Given the description of an element on the screen output the (x, y) to click on. 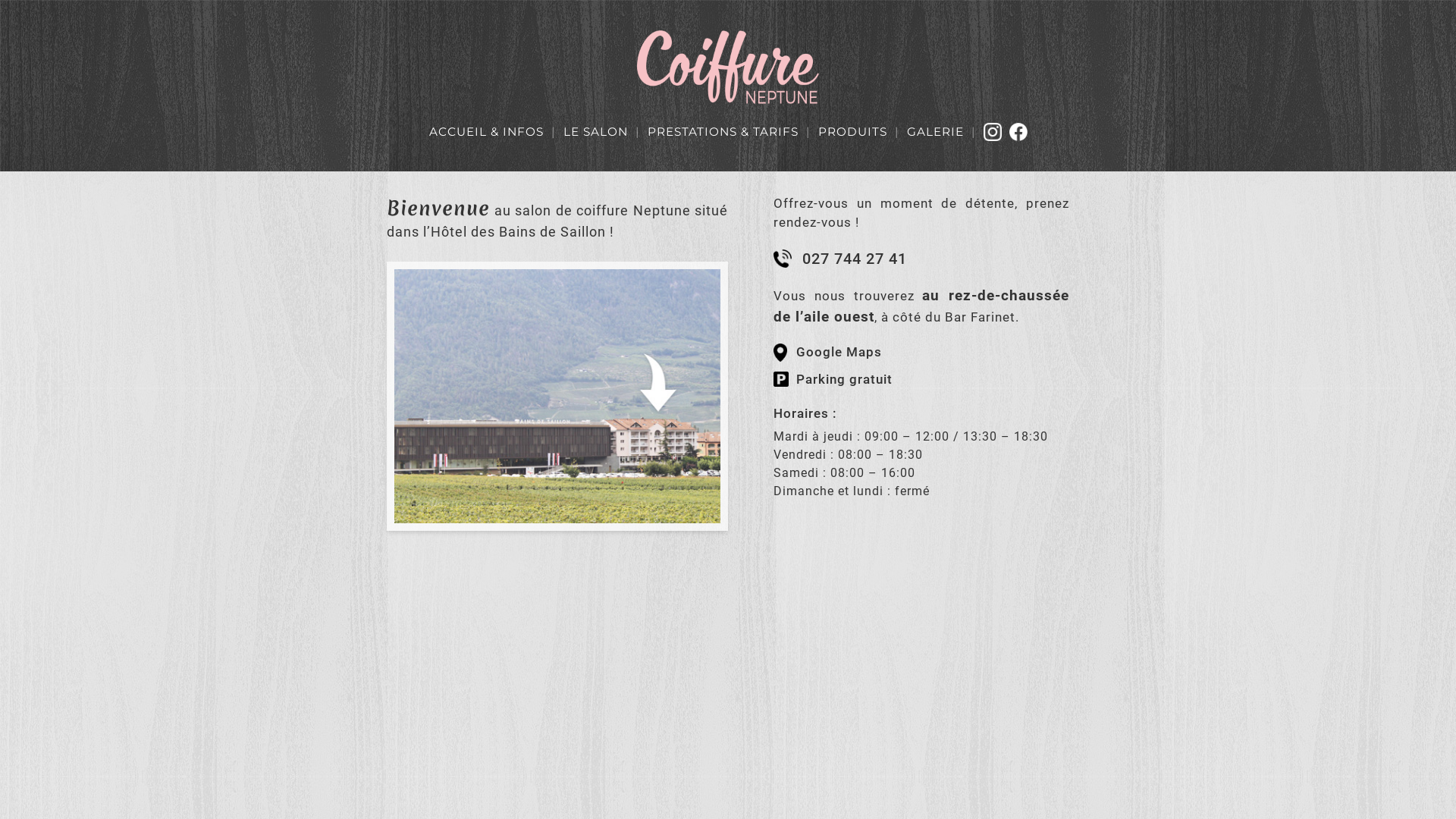
PRESTATIONS & TARIFS Element type: text (722, 131)
LE SALON Element type: text (594, 131)
Google Maps Element type: text (921, 352)
PRODUITS Element type: text (851, 131)
ACCUEIL & INFOS Element type: text (486, 131)
GALERIE Element type: text (934, 131)
